Given the description of an element on the screen output the (x, y) to click on. 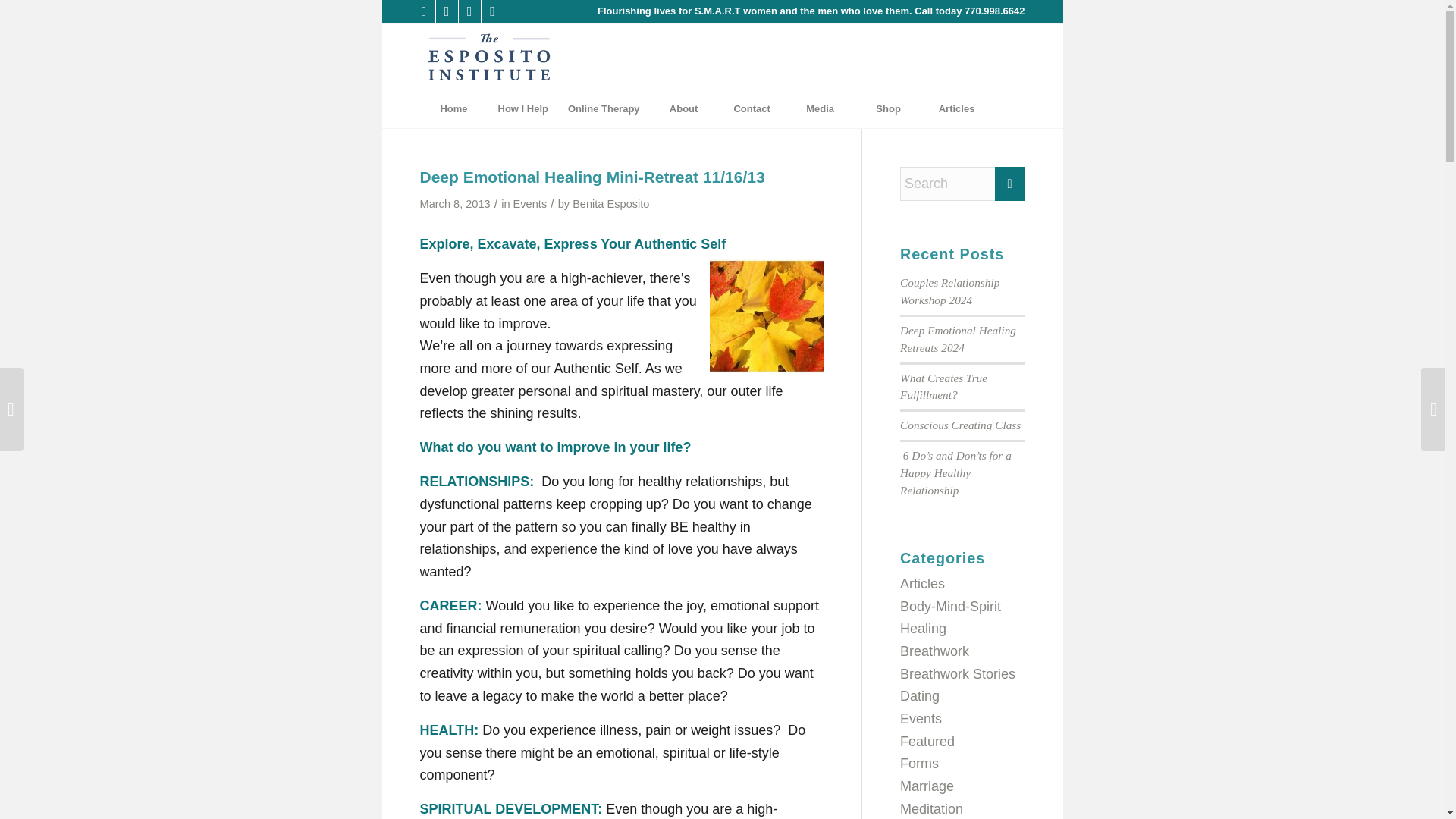
How I Help (522, 108)
Mail (446, 11)
Posts by Benita Esposito (610, 203)
LinkedIn (469, 11)
Home (453, 108)
X (491, 11)
Facebook (422, 11)
Events (530, 203)
Online Therapy (603, 108)
Benita Esposito (610, 203)
logo05 (489, 56)
